Given the description of an element on the screen output the (x, y) to click on. 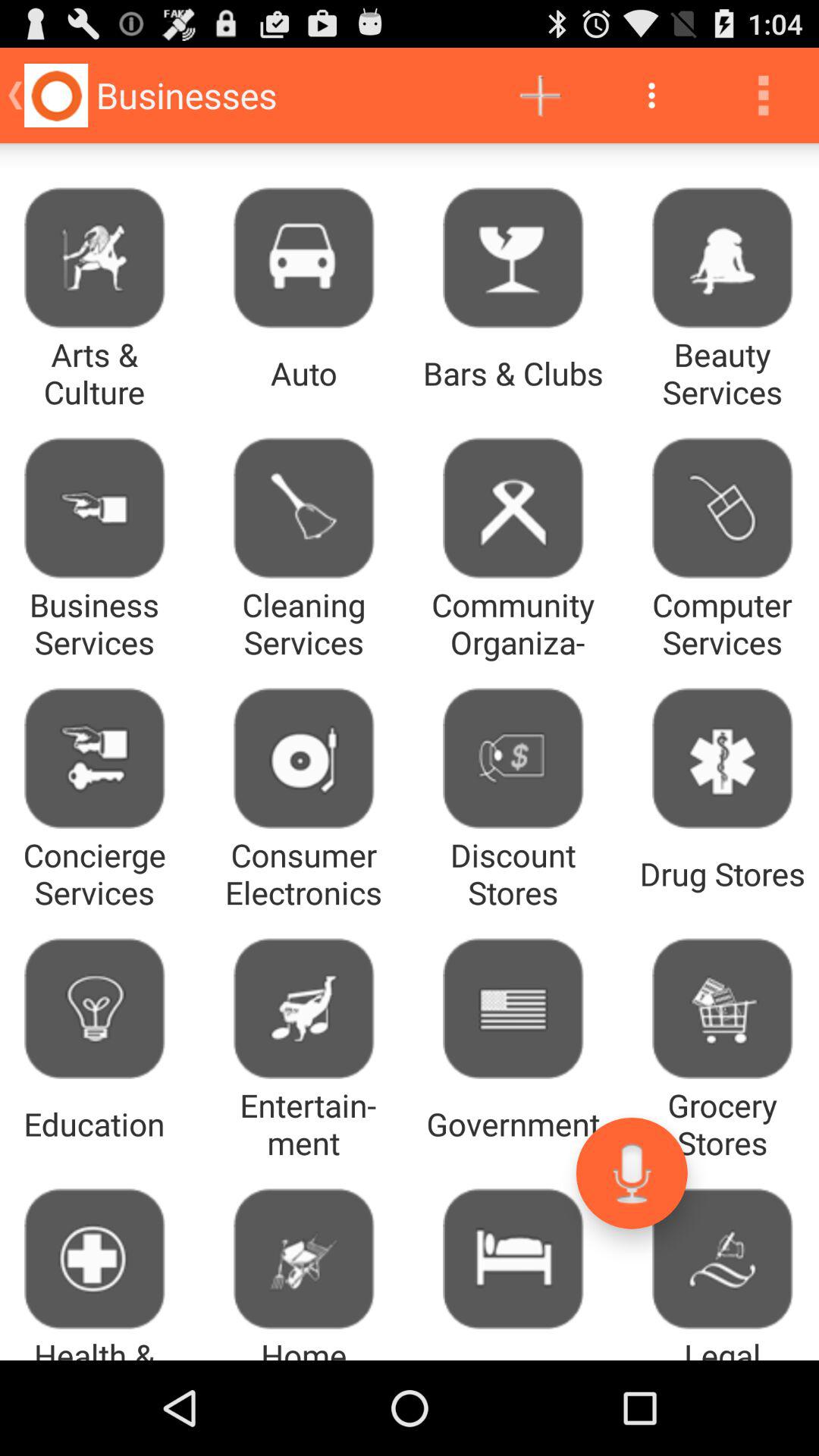
select the app to the right of the businesses icon (540, 95)
